Given the description of an element on the screen output the (x, y) to click on. 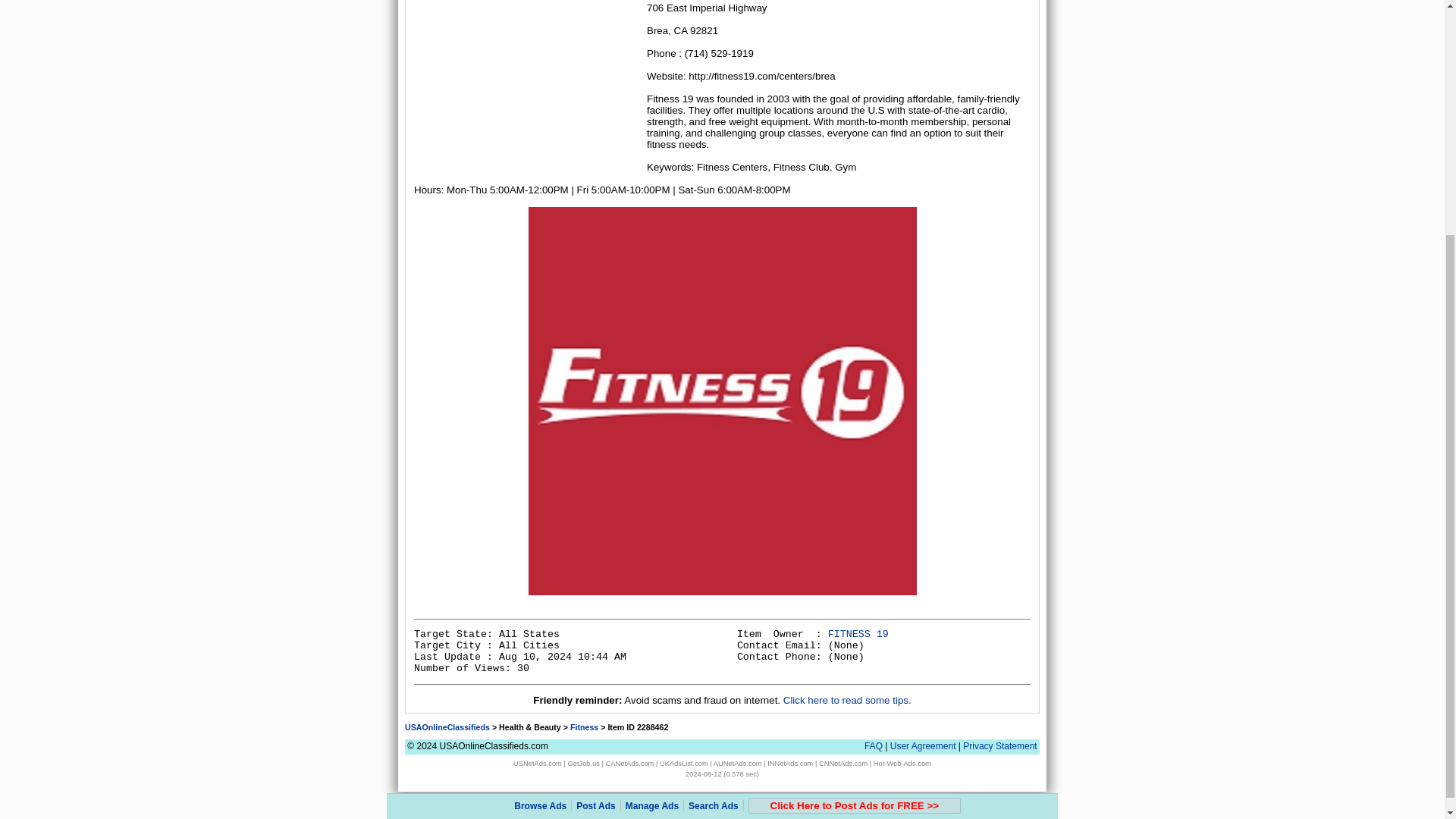
Search Ads (713, 479)
Go Back to USAOnlineClassifieds.com Home Page (446, 727)
INNetAds.com (789, 763)
FITNESS 19 (858, 633)
GetJob.us (583, 763)
Privacy Statement (999, 746)
Post Ads (595, 479)
Click here to read some tips. (847, 699)
AUNetAds.com (737, 763)
CANetAds.com (629, 763)
